Given the description of an element on the screen output the (x, y) to click on. 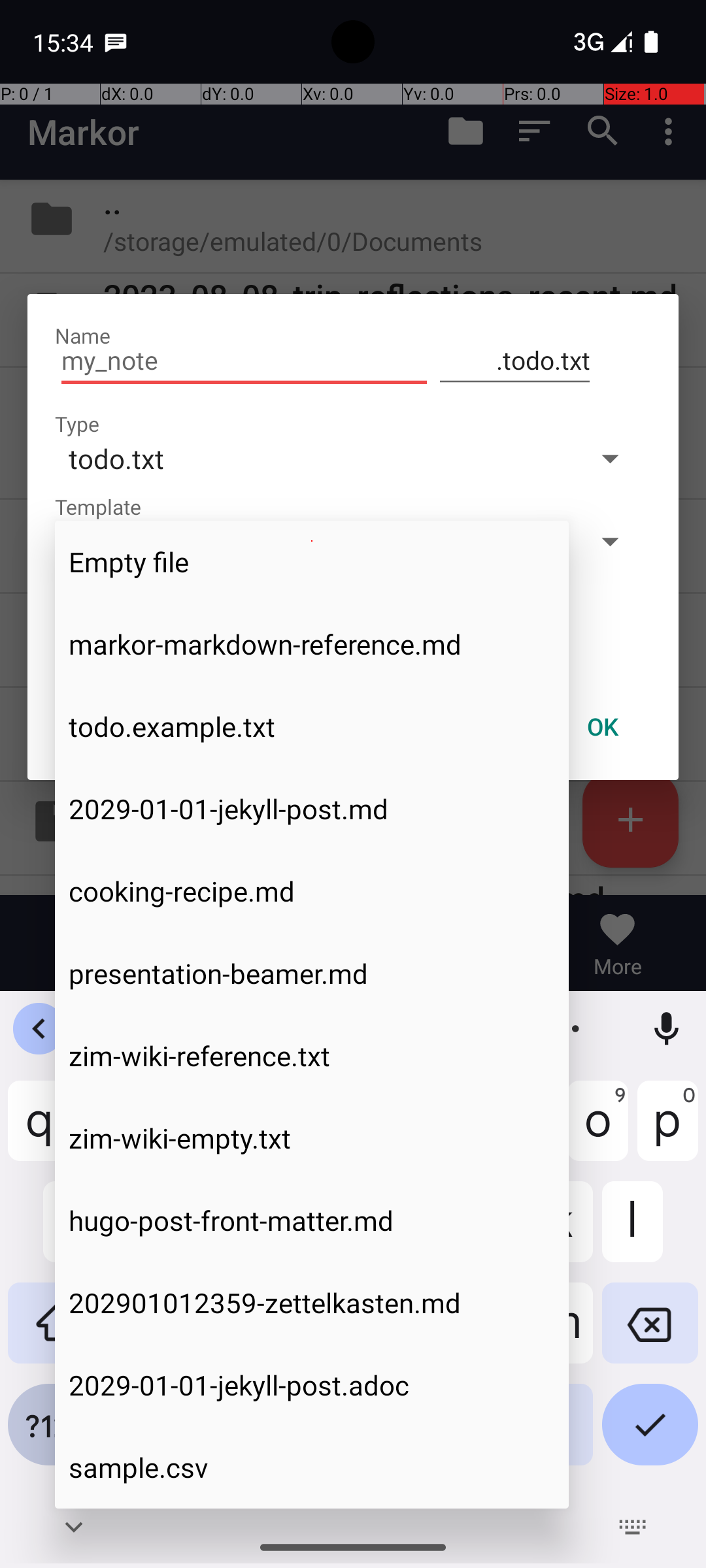
markor-markdown-reference.md Element type: android.widget.CheckedTextView (311, 644)
todo.example.txt Element type: android.widget.CheckedTextView (311, 726)
2029-01-01-jekyll-post.md Element type: android.widget.CheckedTextView (311, 808)
cooking-recipe.md Element type: android.widget.CheckedTextView (311, 890)
presentation-beamer.md Element type: android.widget.CheckedTextView (311, 973)
zim-wiki-reference.txt Element type: android.widget.CheckedTextView (311, 1055)
zim-wiki-empty.txt Element type: android.widget.CheckedTextView (311, 1137)
hugo-post-front-matter.md Element type: android.widget.CheckedTextView (311, 1220)
202901012359-zettelkasten.md Element type: android.widget.CheckedTextView (311, 1302)
2029-01-01-jekyll-post.adoc Element type: android.widget.CheckedTextView (311, 1384)
sample.csv Element type: android.widget.CheckedTextView (311, 1467)
